Given the description of an element on the screen output the (x, y) to click on. 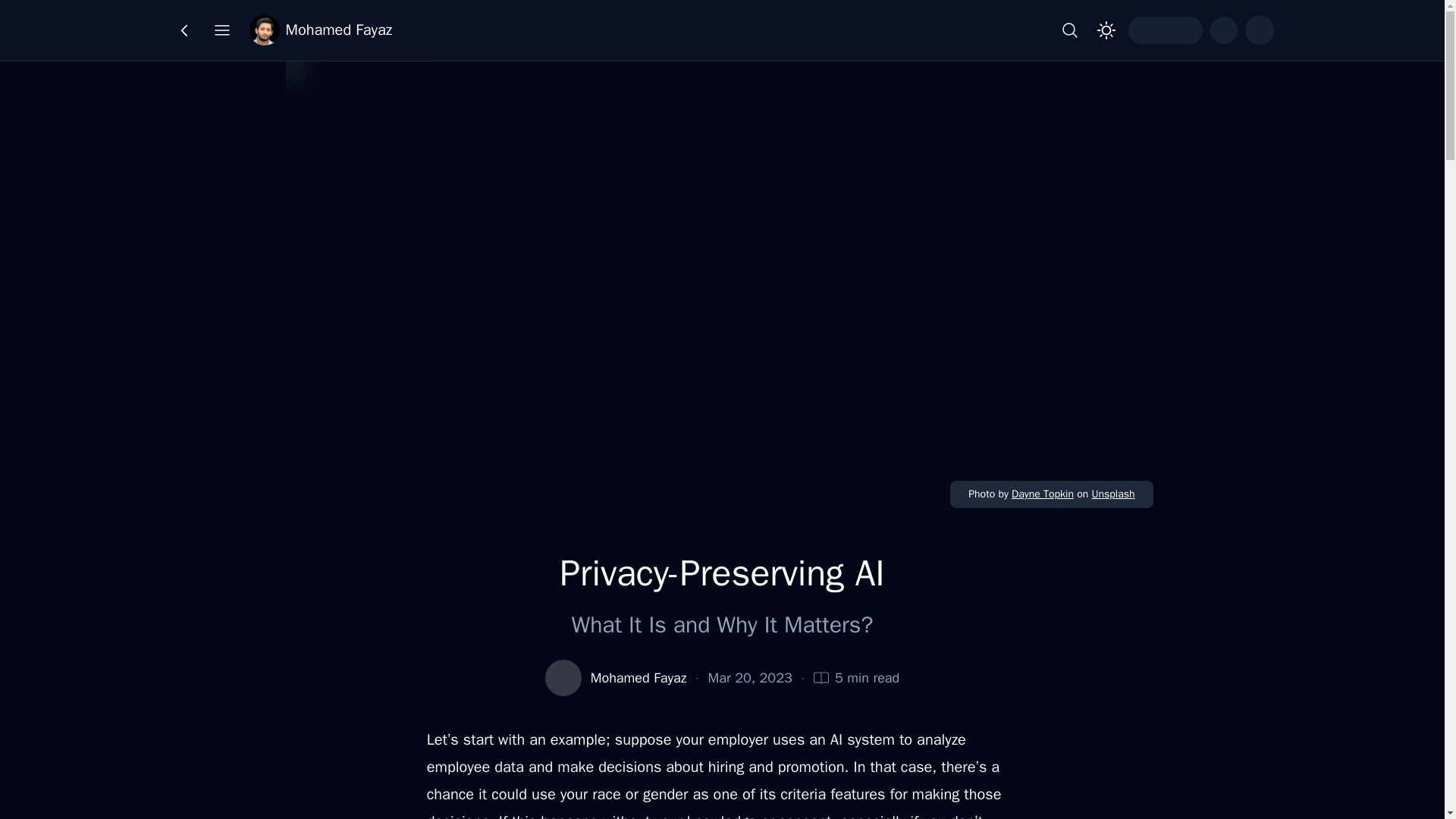
Mohamed Fayaz (639, 677)
Mohamed Fayaz (319, 30)
Unsplash (1112, 493)
Dayne Topkin (1042, 493)
Mar 20, 2023 (749, 677)
